Given the description of an element on the screen output the (x, y) to click on. 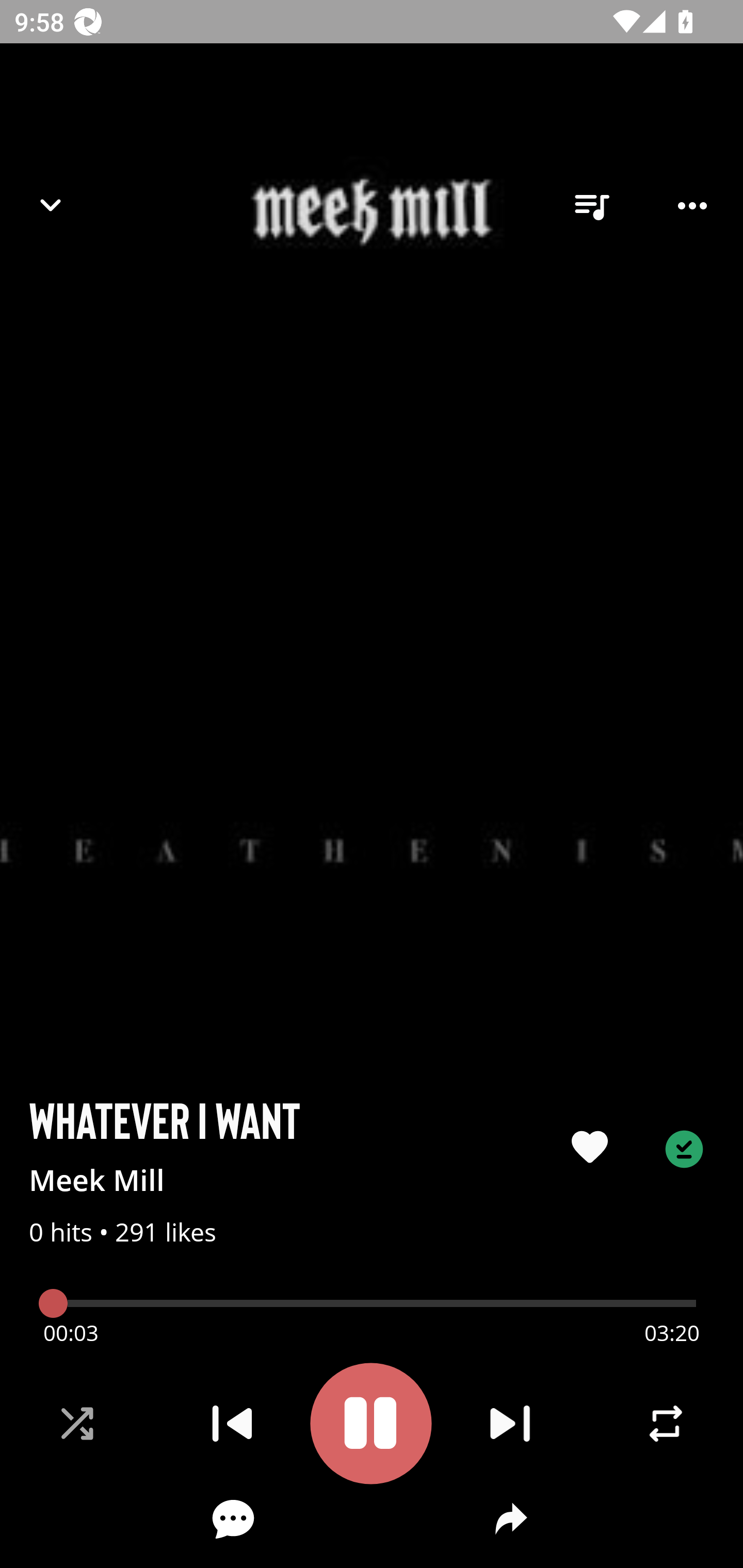
Navigate up (50, 205)
queue (590, 206)
Player options (692, 206)
